Given the description of an element on the screen output the (x, y) to click on. 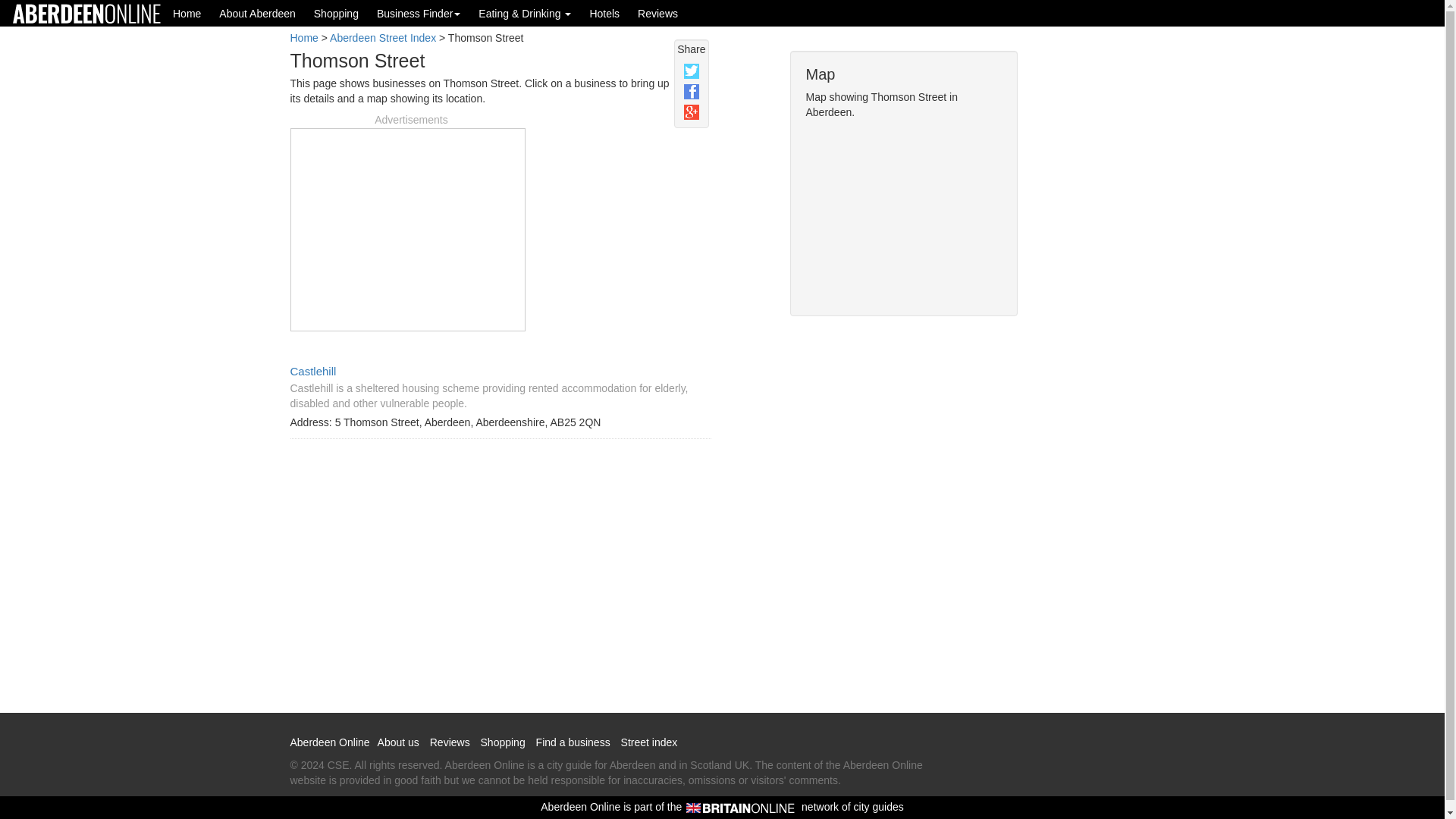
Shopping (336, 12)
Aberdeen Street Index (382, 37)
Hotels (603, 12)
Advertisement (407, 227)
Home (303, 37)
About Aberdeen (256, 12)
Business Finder (418, 12)
Reviews (657, 12)
Home (186, 12)
Castlehill (312, 370)
